Given the description of an element on the screen output the (x, y) to click on. 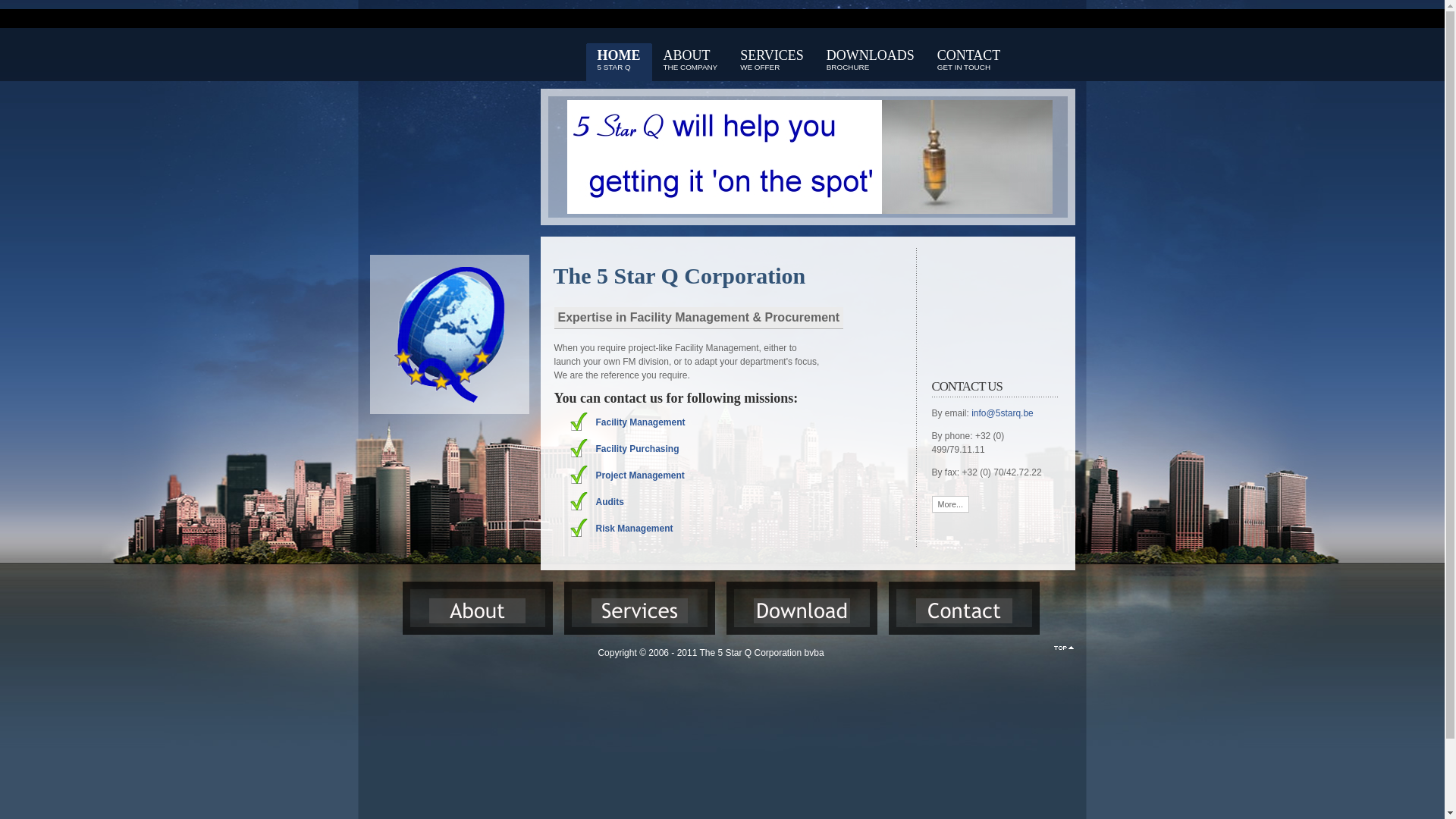
CONTACT
GET IN TOUCH Element type: text (968, 62)
Contact Element type: hover (964, 610)
5 Star Q Element type: hover (448, 406)
Facility Purchasing Element type: text (637, 448)
ABOUT
THE COMPANY Element type: text (690, 62)
info@5starq.be Element type: text (1002, 412)
About the Company Element type: hover (477, 610)
Risk Management Element type: text (634, 528)
SERVICES
WE OFFER Element type: text (771, 62)
Facility Management Element type: text (640, 422)
Download Brochure Element type: hover (801, 610)
  Element type: text (1063, 647)
HOME
5 STAR Q Element type: text (618, 62)
DOWNLOADS
BROCHURE Element type: text (870, 62)
Google conversion frame Element type: hover (113, 86)
Audits Element type: text (610, 501)
Services Offered Element type: hover (639, 610)
More... Element type: text (950, 503)
Project Management Element type: text (640, 475)
